Given the description of an element on the screen output the (x, y) to click on. 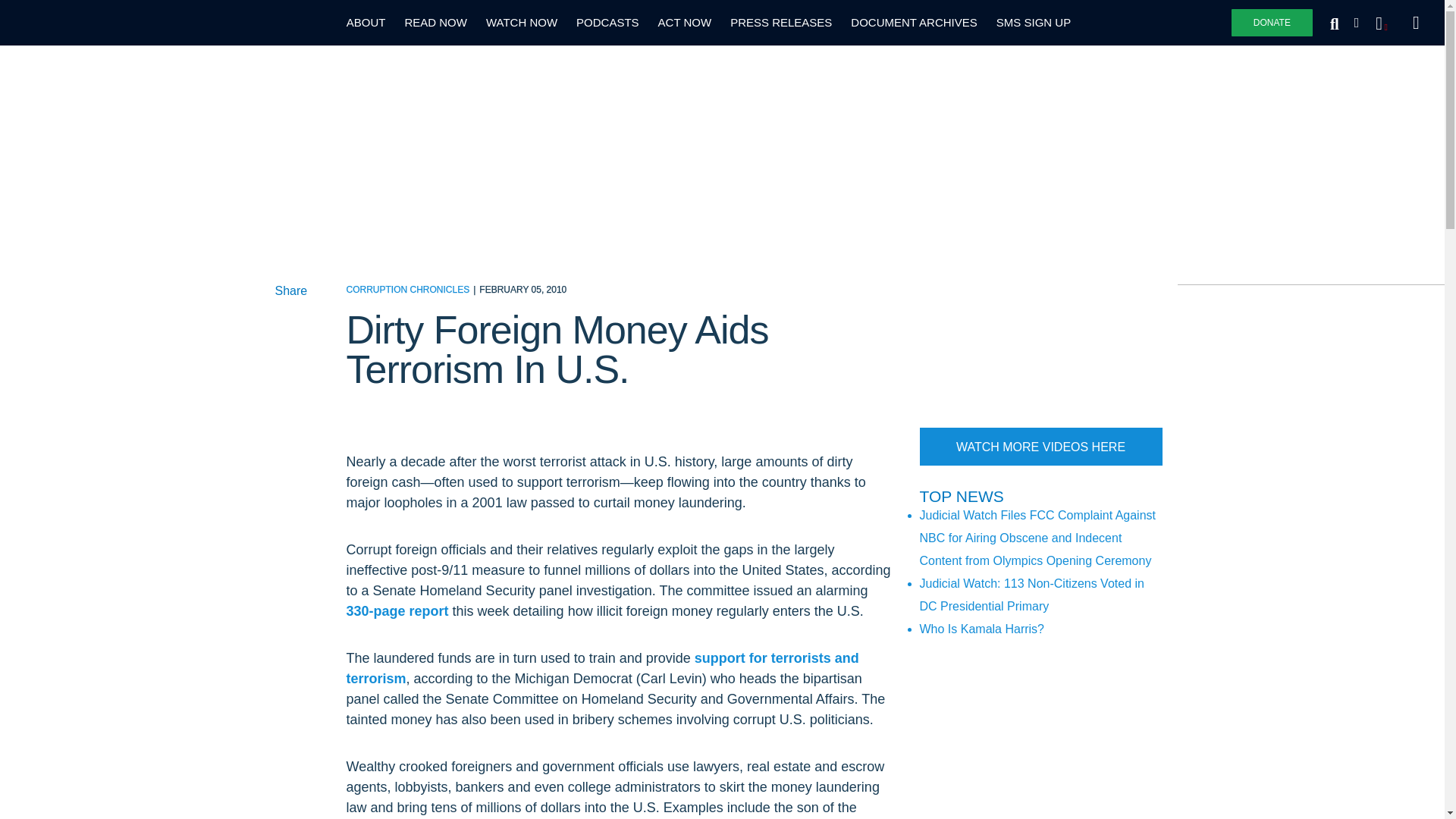
Judicial Watch Homepage (90, 22)
